Given the description of an element on the screen output the (x, y) to click on. 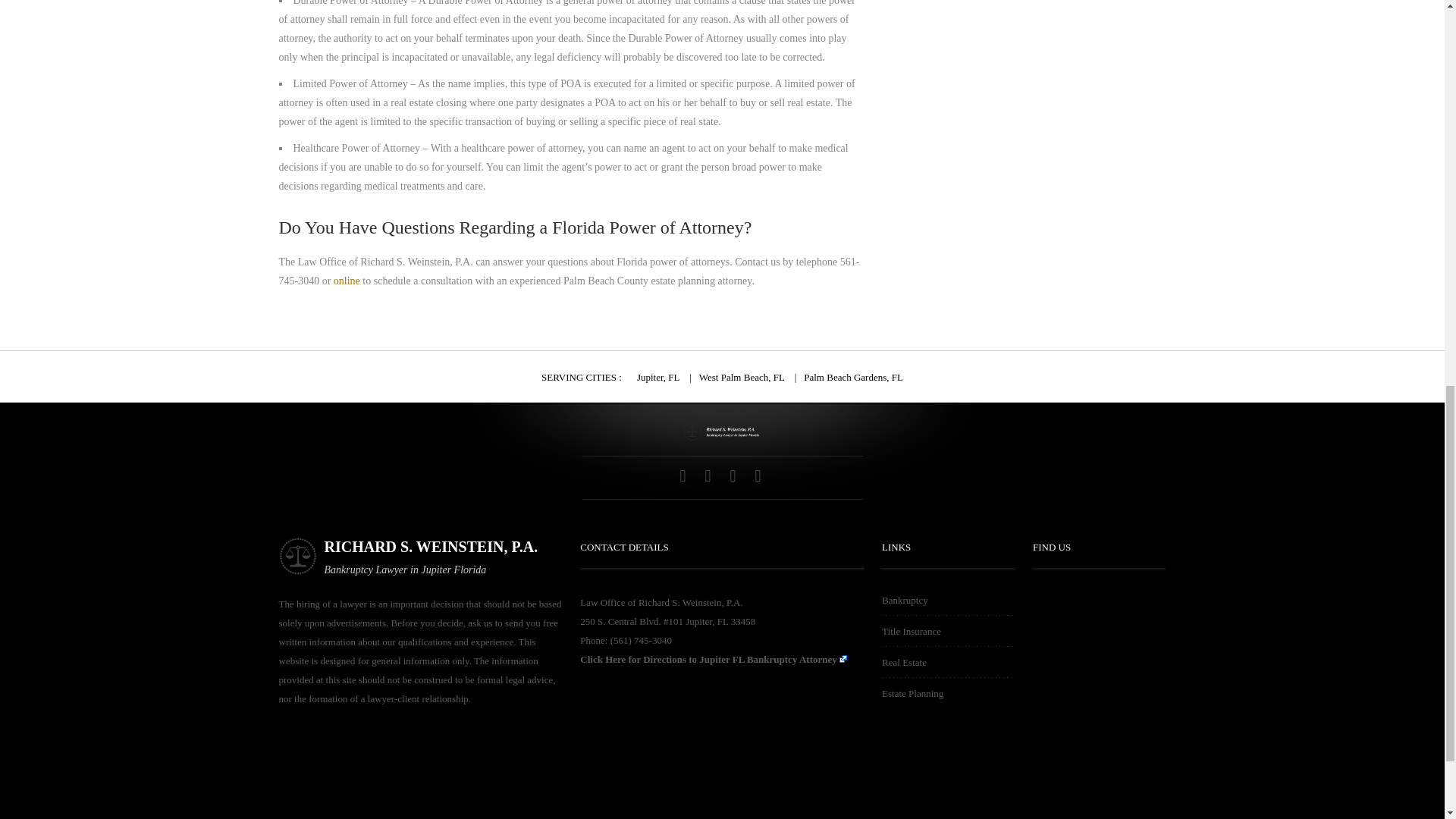
Richard S. Weinstein, P.A. (721, 431)
googleplus (709, 477)
linkedin (760, 477)
facebook (684, 477)
youtube (734, 477)
